Given the description of an element on the screen output the (x, y) to click on. 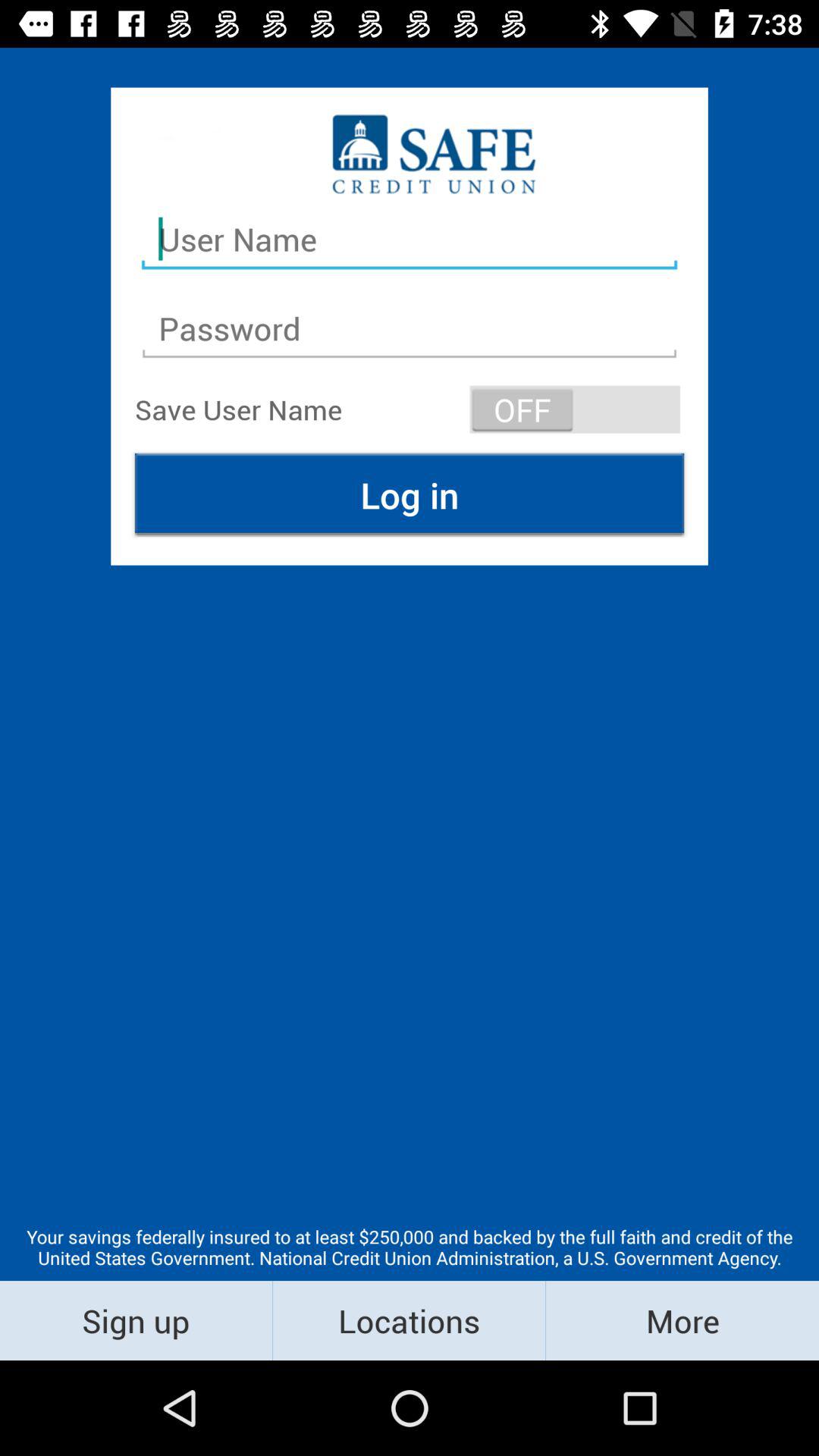
launch the log in item (409, 494)
